Given the description of an element on the screen output the (x, y) to click on. 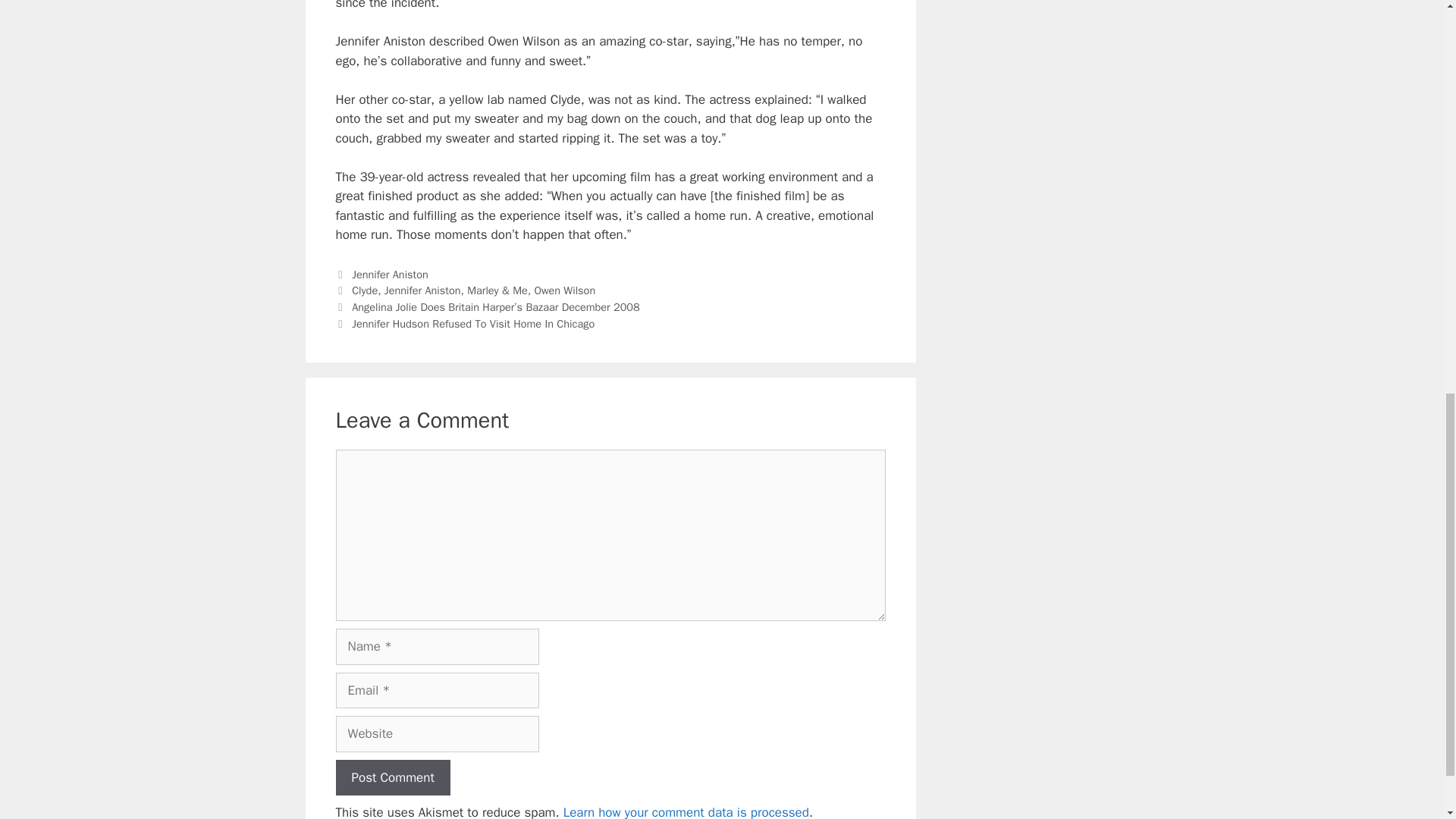
Jennifer Hudson Refused To Visit Home In Chicago (473, 323)
Clyde (364, 290)
Post Comment (391, 778)
Jennifer Aniston (390, 274)
Jennifer Aniston (422, 290)
Learn how your comment data is processed (686, 811)
Post Comment (391, 778)
Owen Wilson (564, 290)
